Given the description of an element on the screen output the (x, y) to click on. 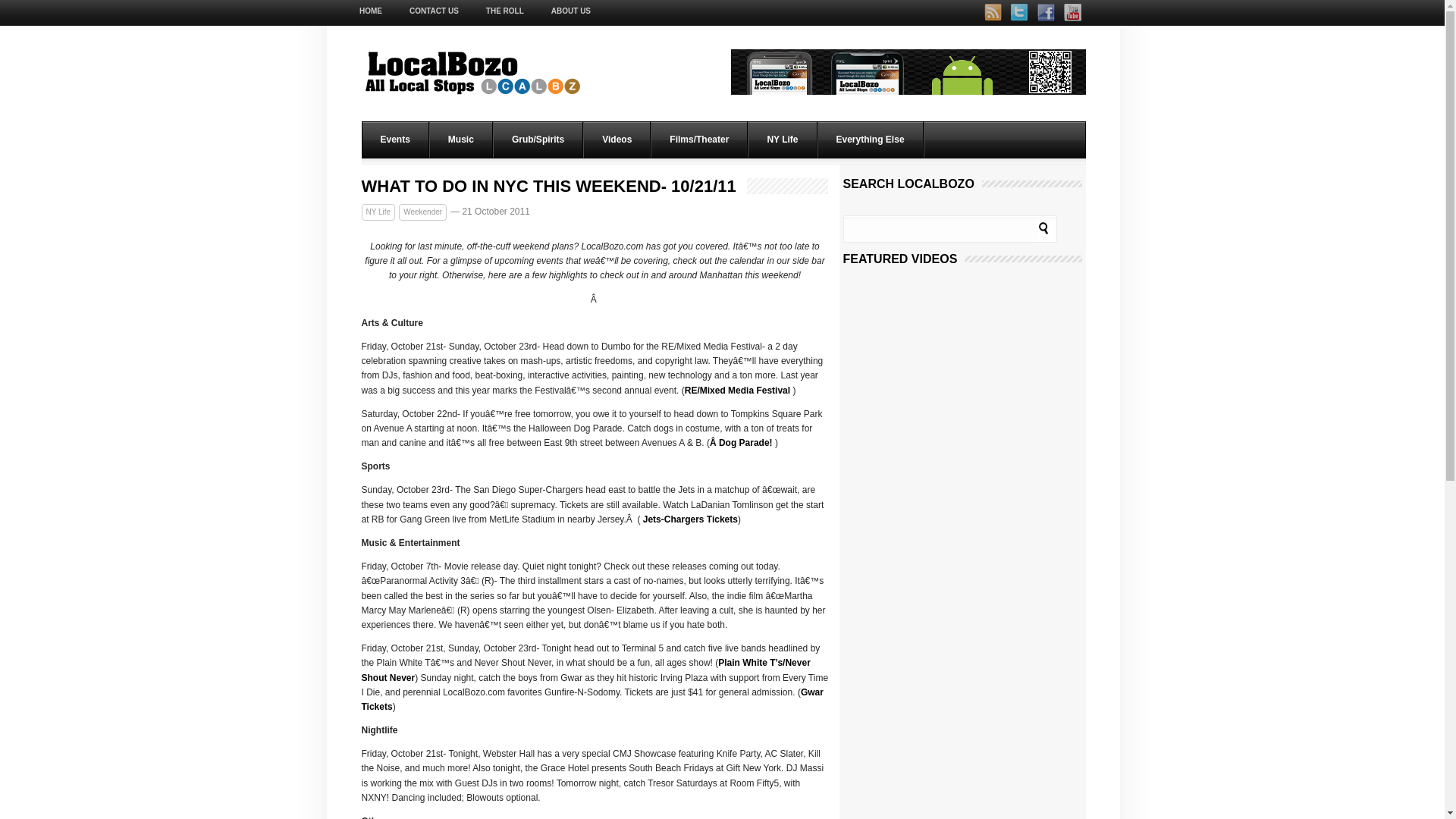
View all posts filed under Music (461, 140)
View all posts filed under Videos (616, 140)
HOME (377, 11)
Jets-Chargers Tickets (689, 519)
CONTACT US (433, 11)
THE ROLL (504, 11)
Events (395, 140)
Music (461, 140)
NY Life (782, 140)
Everything Else (870, 140)
ABOUT US (570, 11)
Videos (616, 140)
NY Life (377, 211)
View all posts filed under Events (395, 140)
Weekender (422, 211)
